Given the description of an element on the screen output the (x, y) to click on. 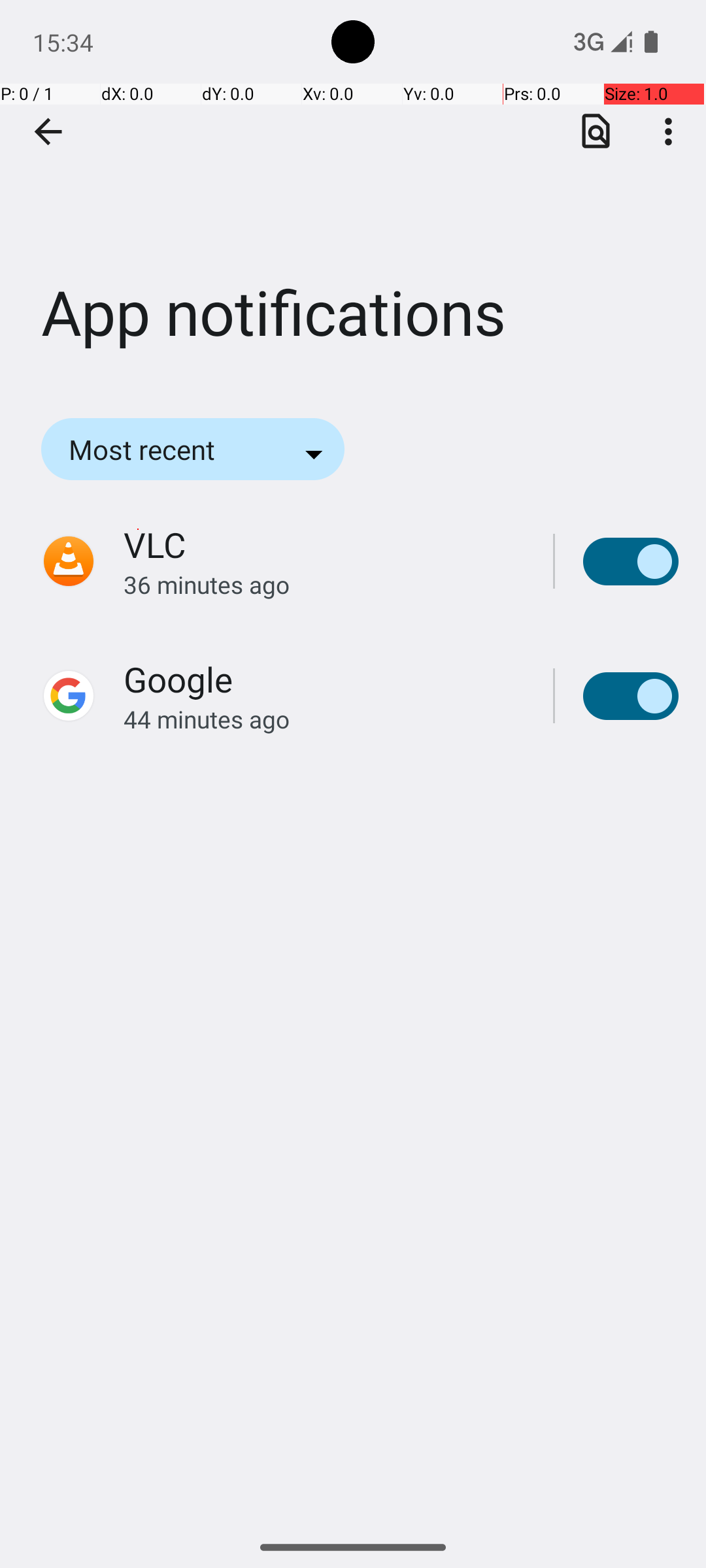
App notifications Element type: android.widget.FrameLayout (353, 195)
Most recent Element type: android.widget.TextView (159, 448)
36 minutes ago Element type: android.widget.TextView (324, 584)
44 minutes ago Element type: android.widget.TextView (324, 718)
